Given the description of an element on the screen output the (x, y) to click on. 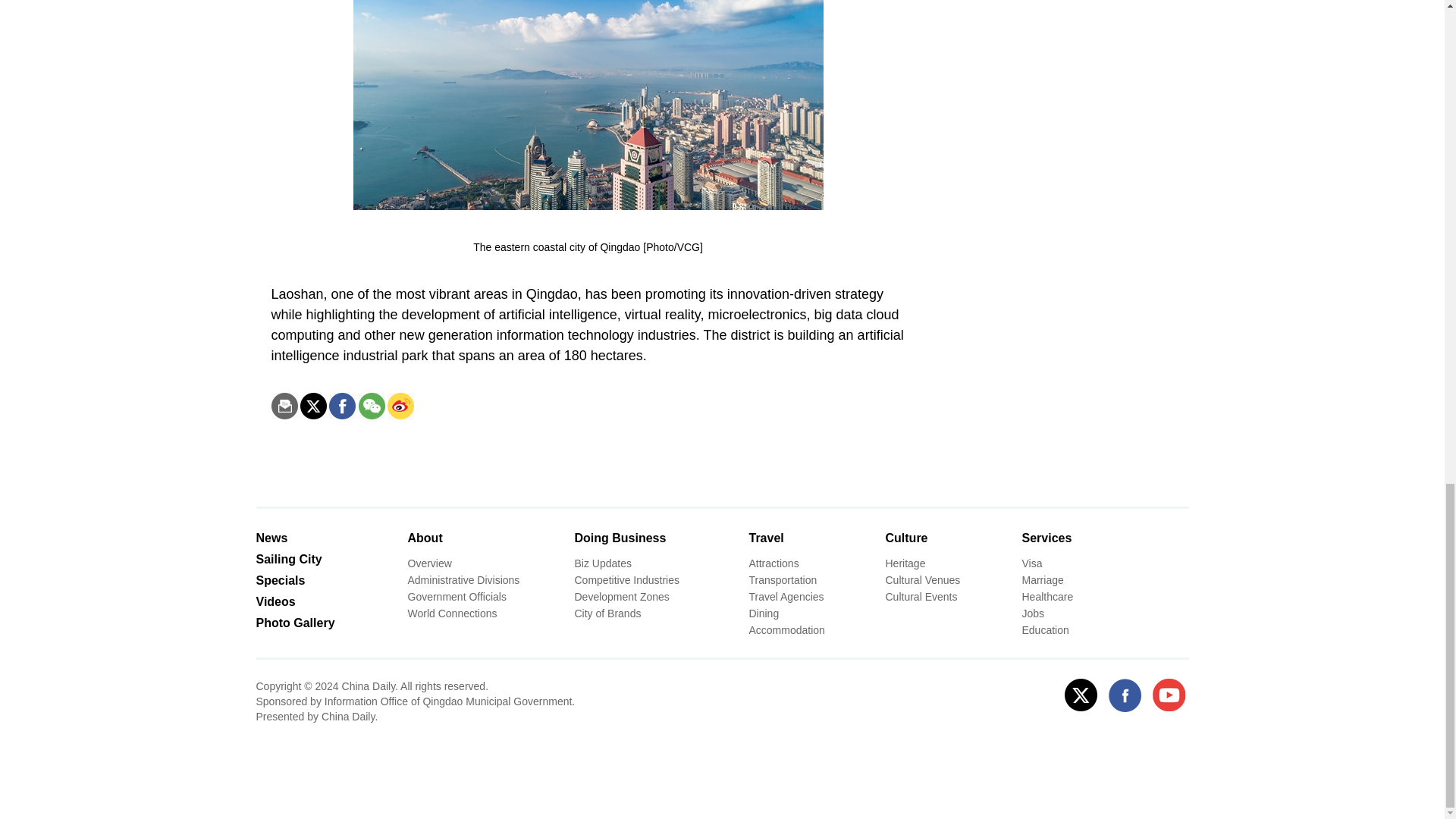
1652768615058077187.jpg (588, 104)
